Given the description of an element on the screen output the (x, y) to click on. 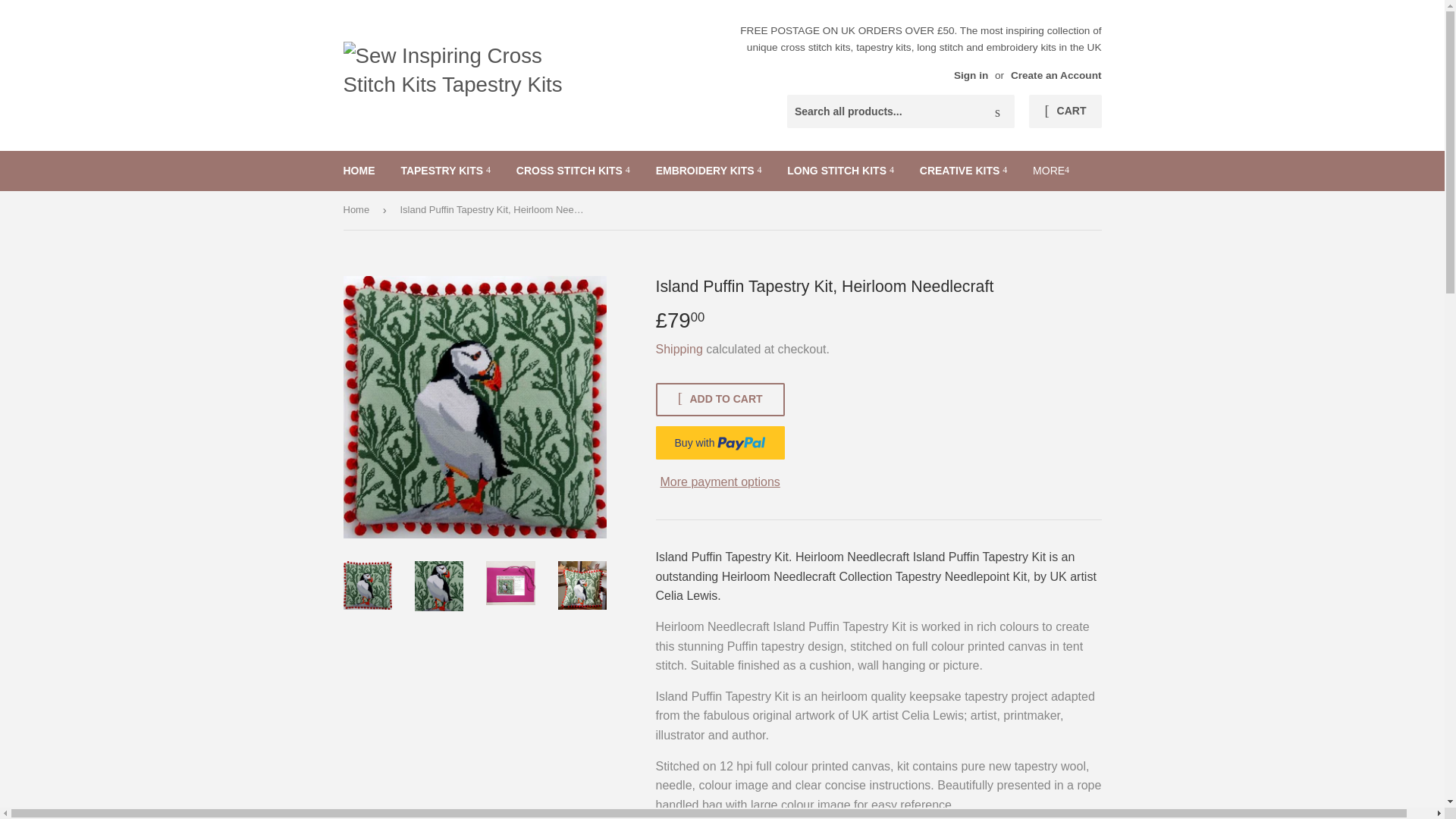
Back to the frontpage (358, 210)
Create an Account (1056, 75)
Search (996, 111)
CART (1064, 111)
Sign in (970, 75)
